Given the description of an element on the screen output the (x, y) to click on. 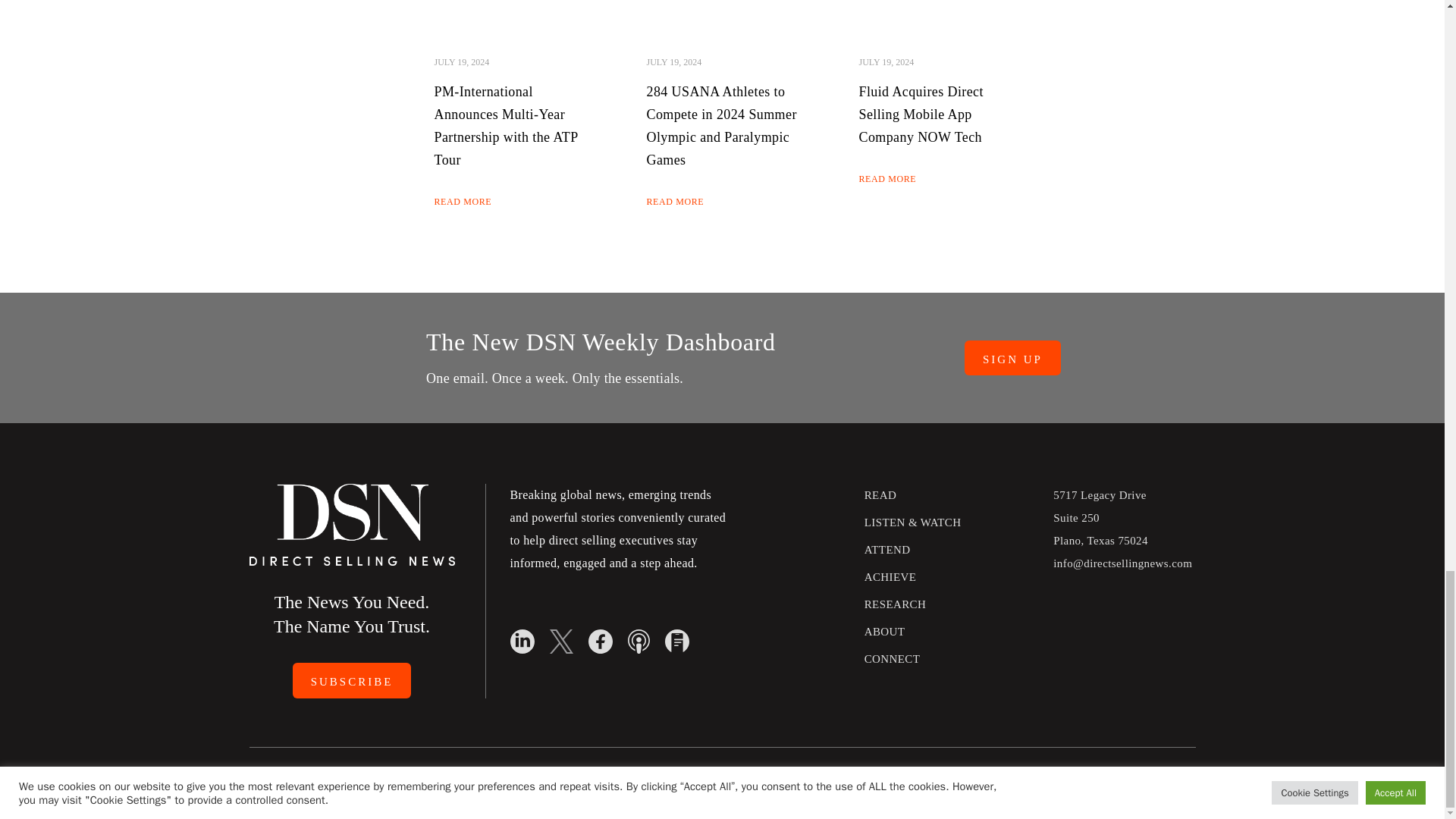
Sign Up (1012, 357)
